Given the description of an element on the screen output the (x, y) to click on. 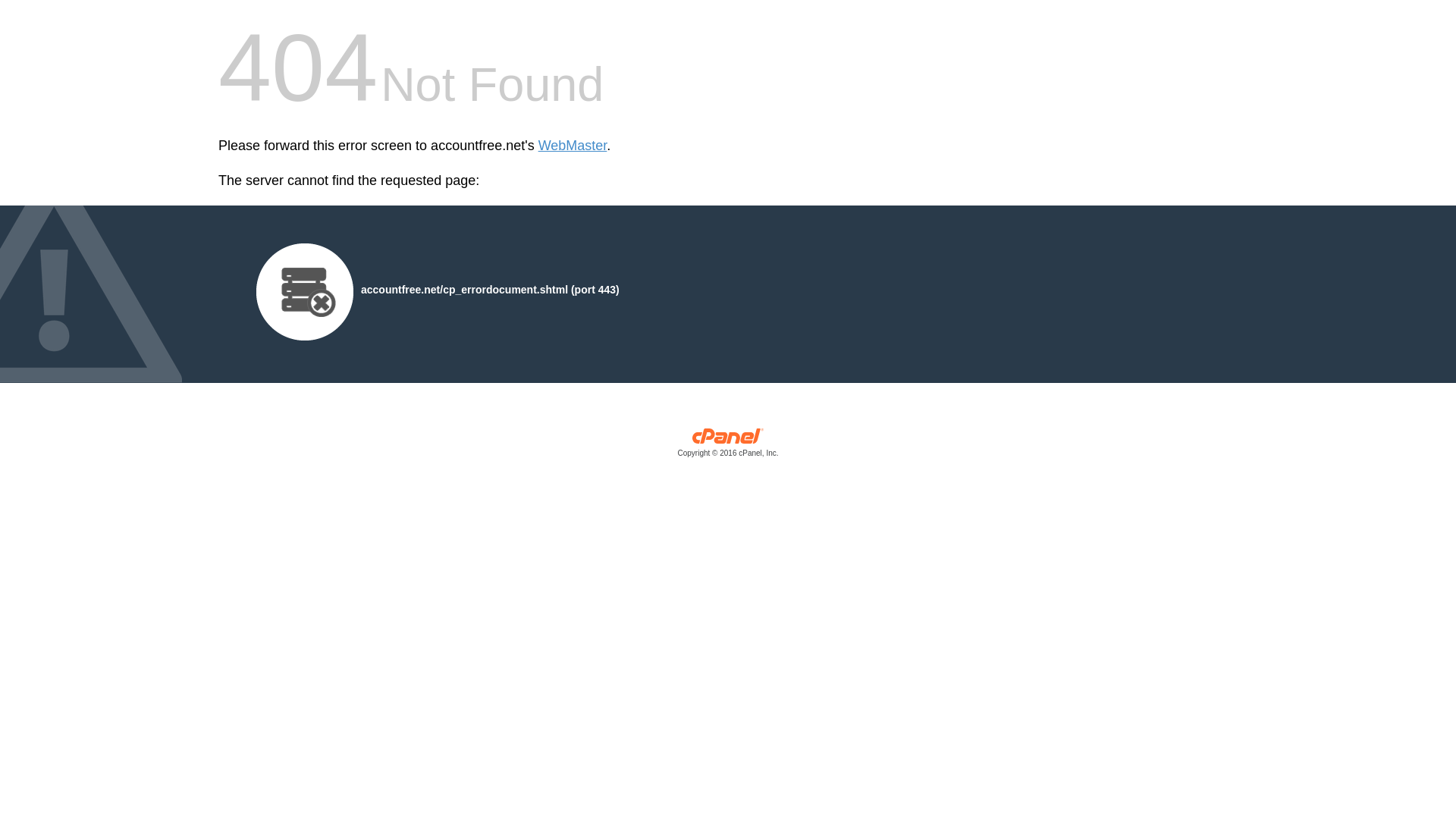
WebMaster (572, 145)
cPanel, Inc. (727, 446)
